Given the description of an element on the screen output the (x, y) to click on. 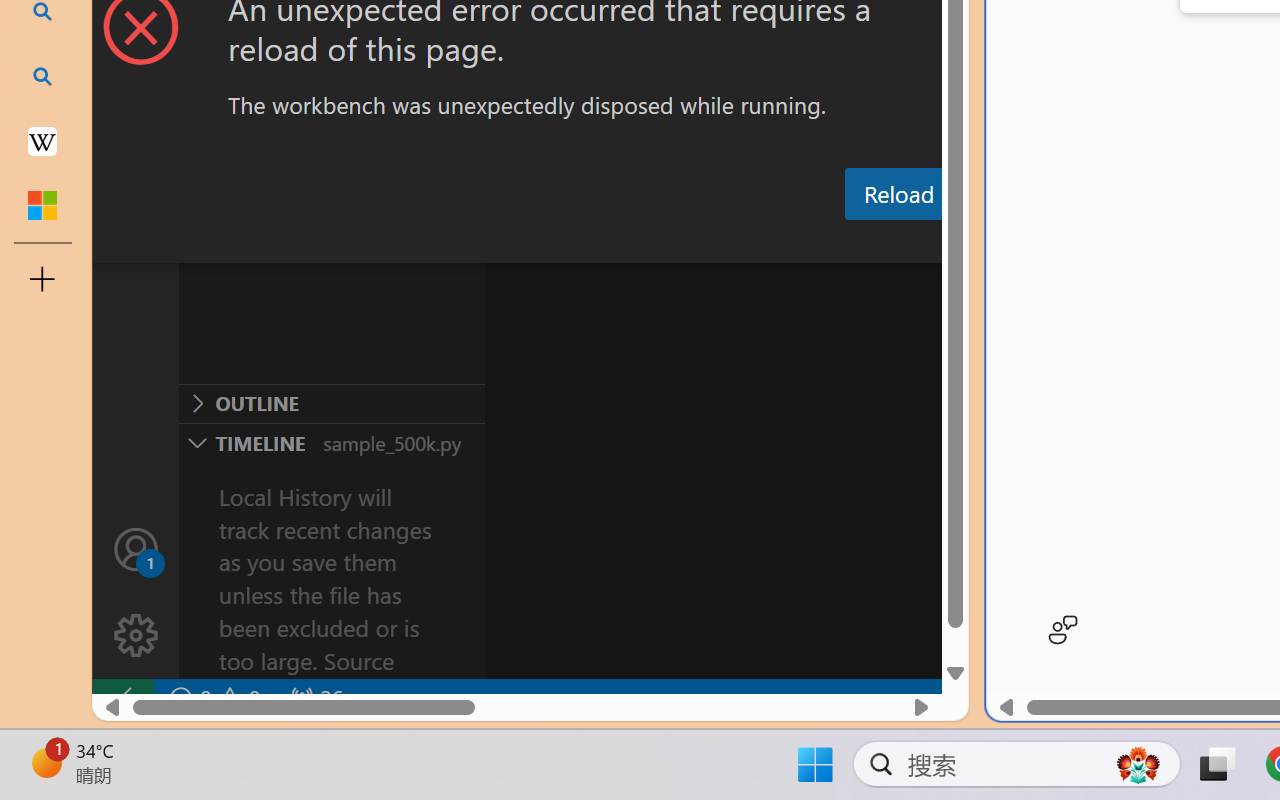
Debug Console (Ctrl+Shift+Y) (854, 243)
Output (Ctrl+Shift+U) (696, 243)
remote (122, 698)
No Problems (212, 698)
Timeline Section (331, 442)
Accounts - Sign in requested (135, 548)
Manage (135, 635)
Earth - Wikipedia (42, 140)
Outline Section (331, 403)
